Given the description of an element on the screen output the (x, y) to click on. 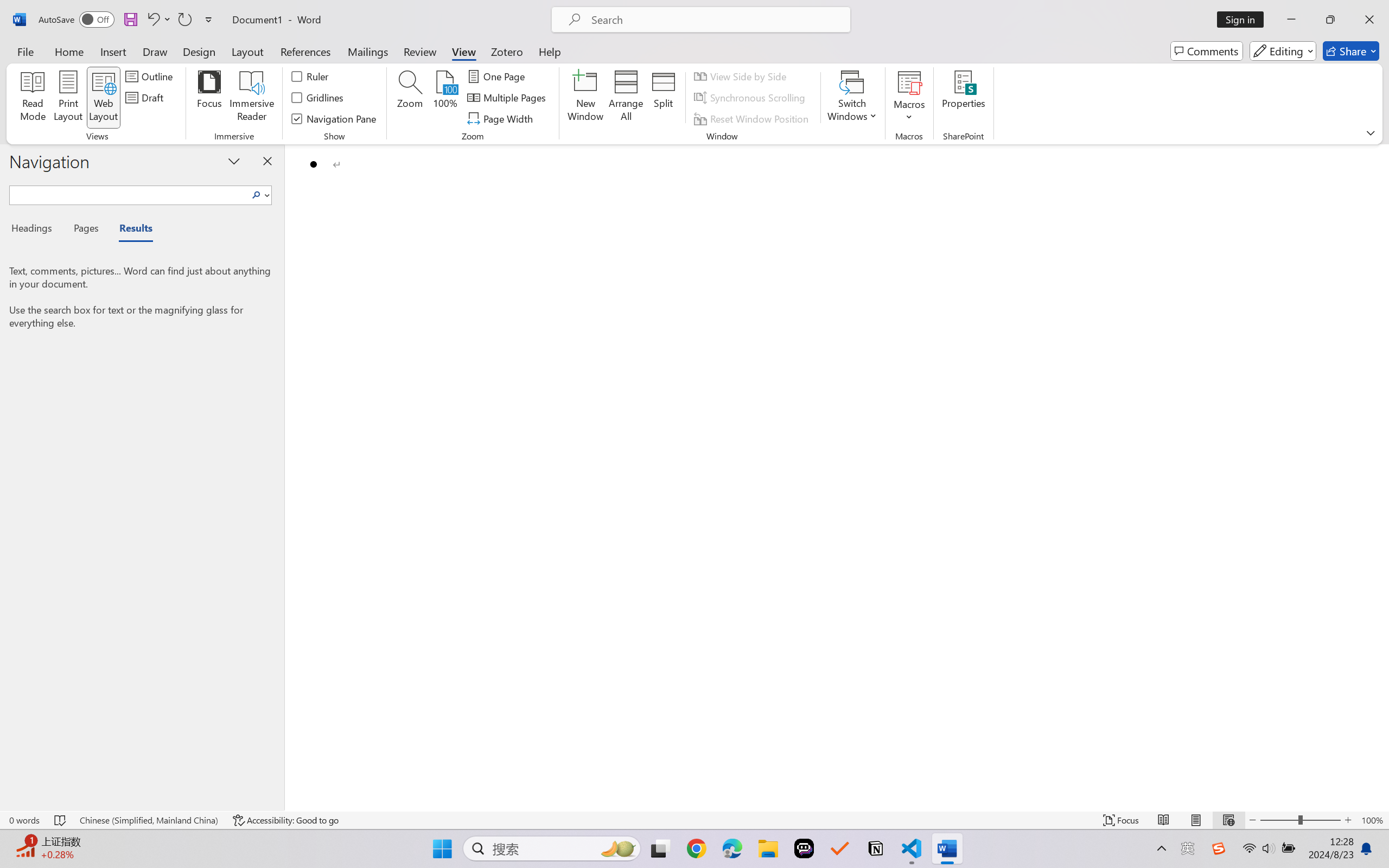
Ruler (309, 75)
Search document (128, 193)
View Side by Side (741, 75)
Results (130, 229)
Headings (35, 229)
100% (445, 97)
